Given the description of an element on the screen output the (x, y) to click on. 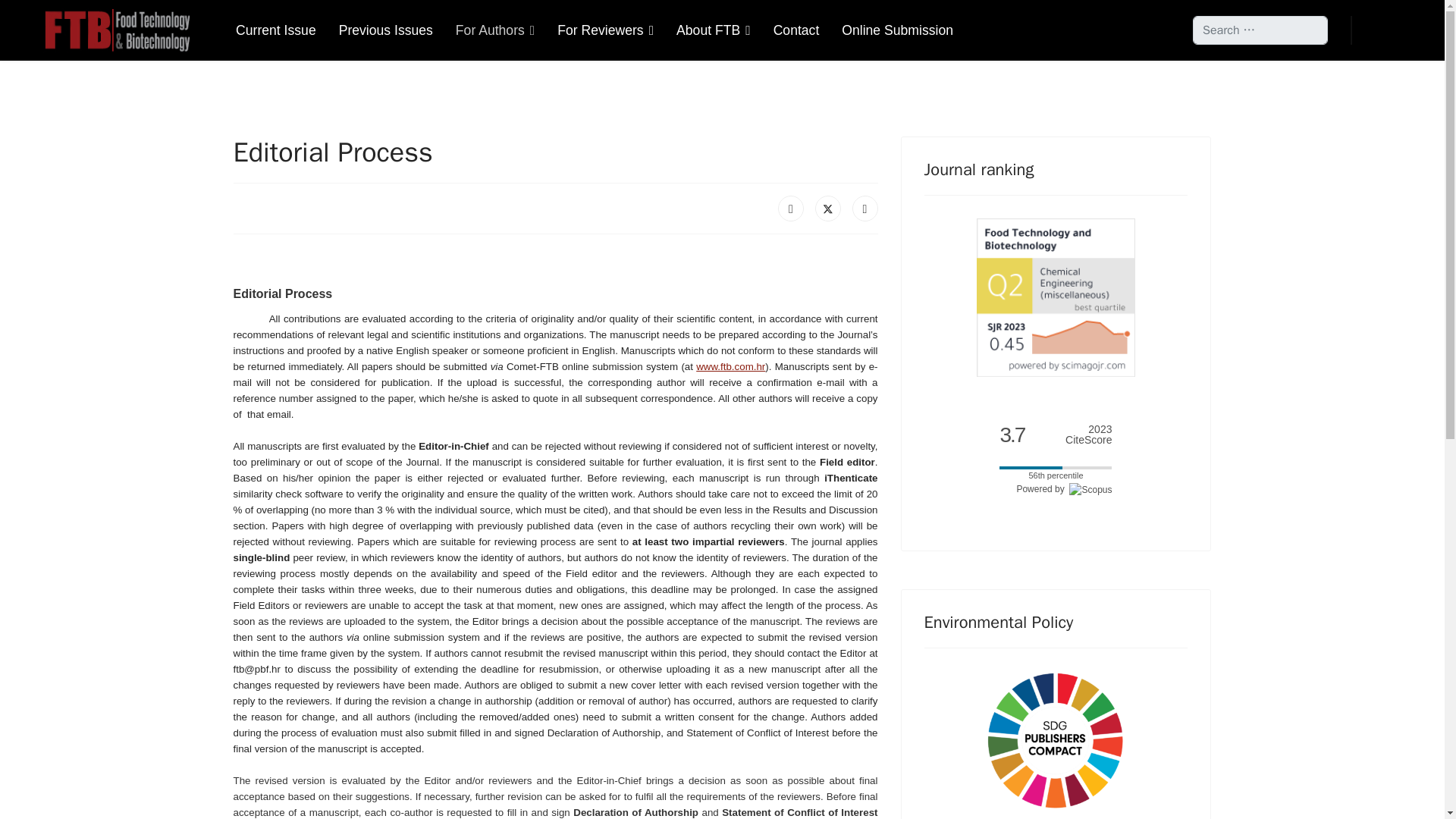
LinkedIn (864, 208)
Facebook (790, 208)
Current Issue (275, 30)
For Reviewers (605, 30)
Previous Issues (385, 30)
For Authors (495, 30)
About FTB (713, 30)
Menu (1376, 30)
